Given the description of an element on the screen output the (x, y) to click on. 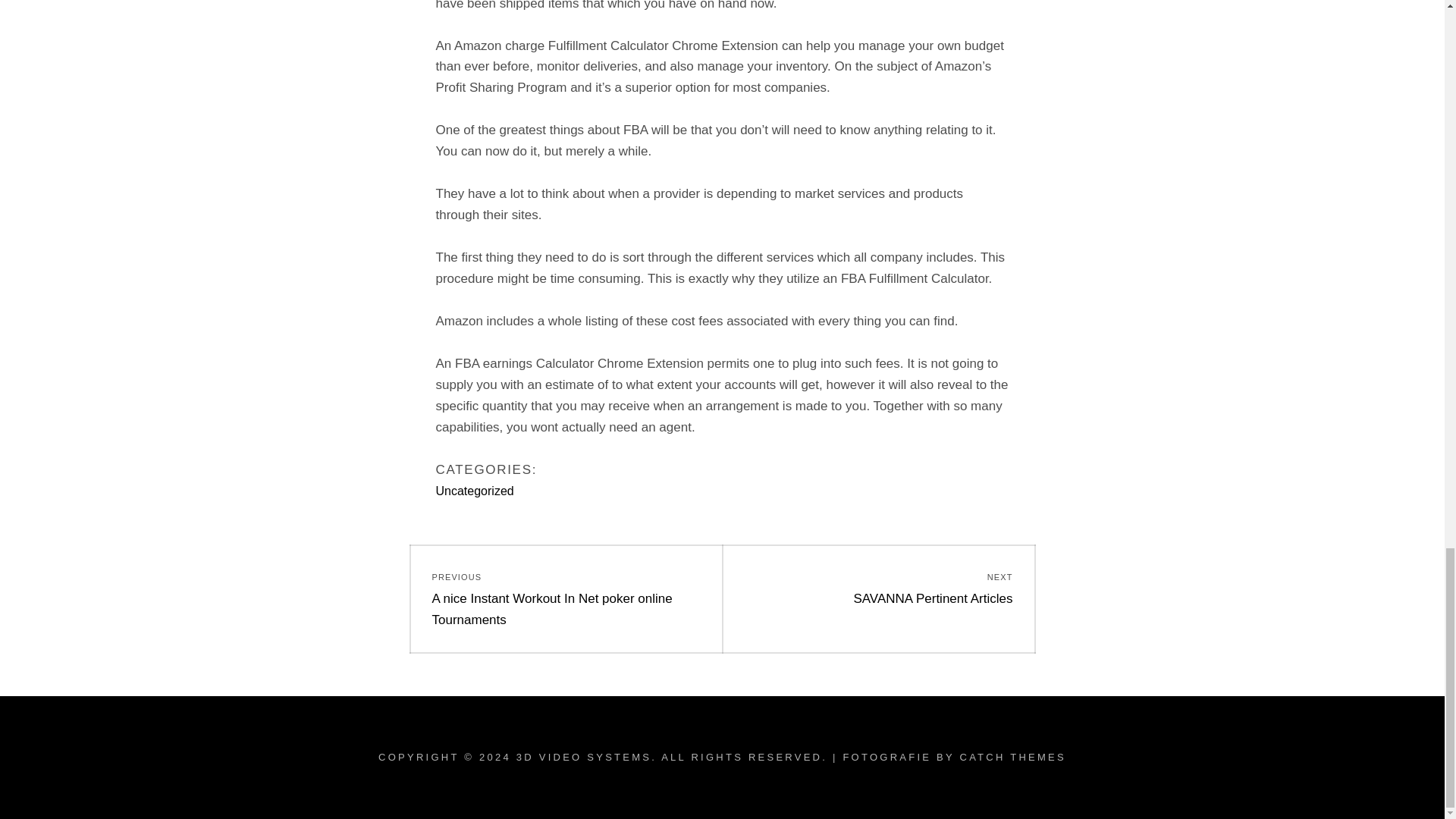
3D VIDEO SYSTEMS (583, 756)
CATCH THEMES (878, 588)
Uncategorized (1012, 756)
